Given the description of an element on the screen output the (x, y) to click on. 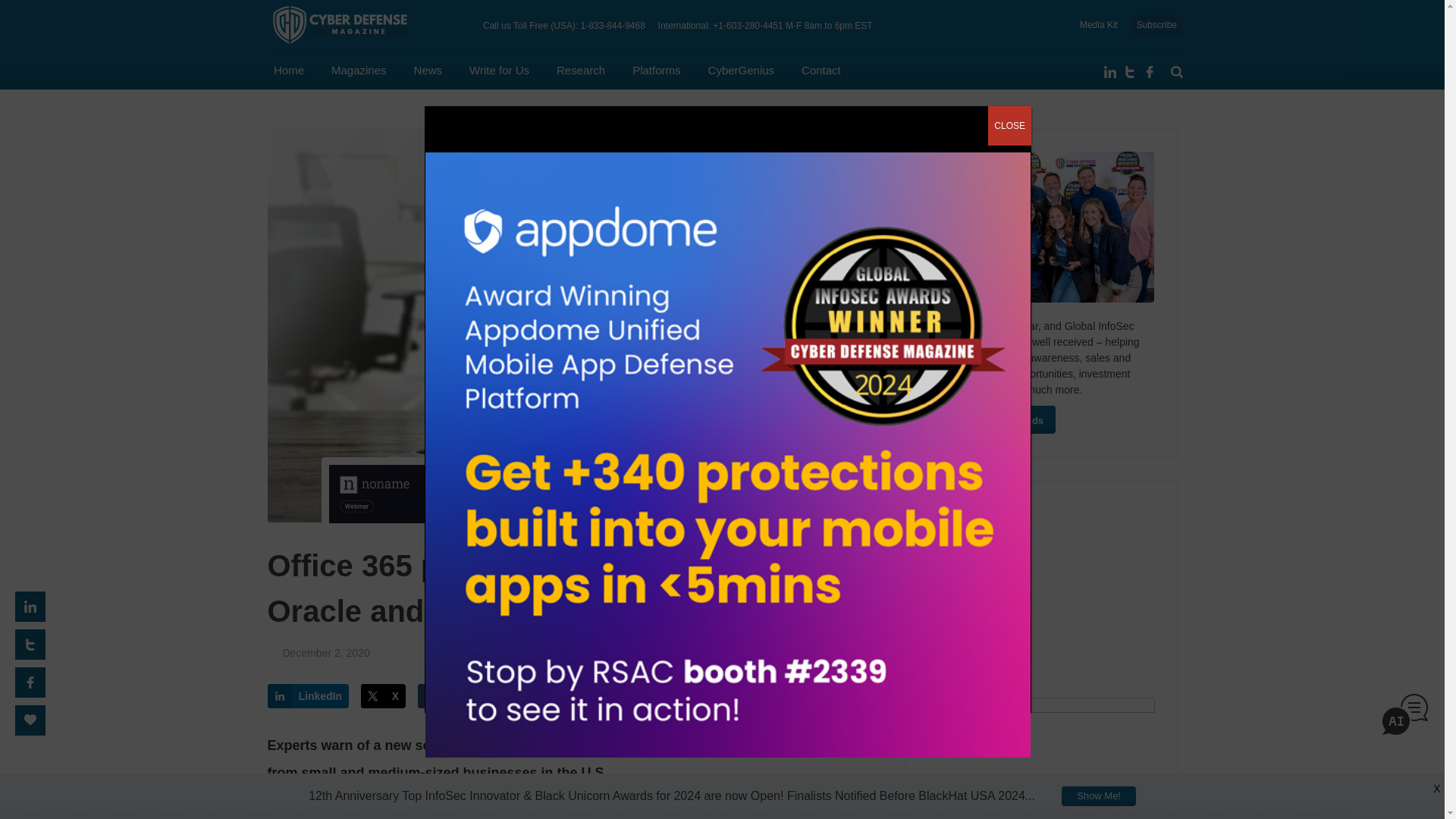
Share on LinkedIn (307, 695)
CyberGenius (740, 70)
Platforms (655, 70)
Research (580, 70)
Media Kit (1099, 24)
Home (288, 70)
Magazines (359, 70)
Contact (821, 70)
Share on X (383, 695)
Share on Facebook (461, 695)
Write for Us (498, 70)
Print this webpage (547, 695)
Subscribe (1156, 25)
News (427, 70)
